Given the description of an element on the screen output the (x, y) to click on. 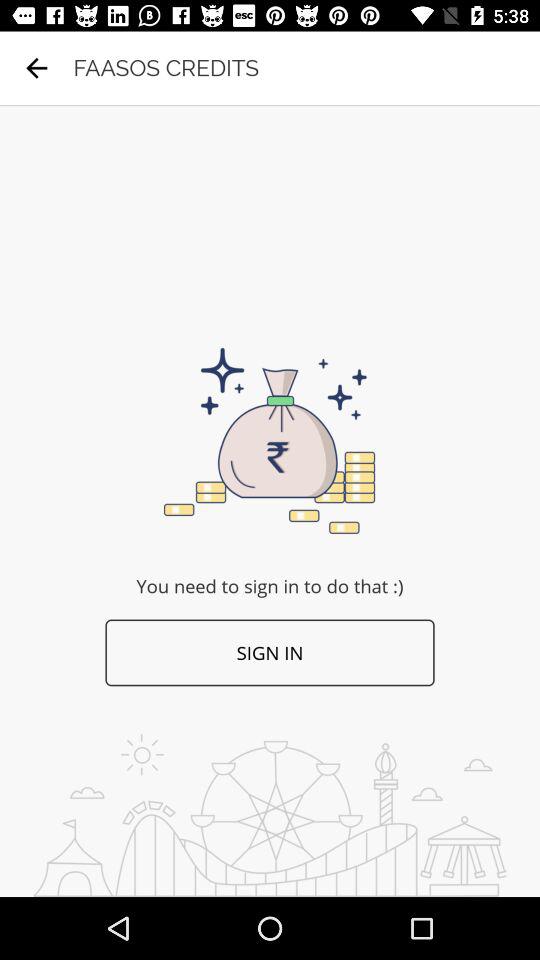
tap item above you need to item (36, 68)
